Given the description of an element on the screen output the (x, y) to click on. 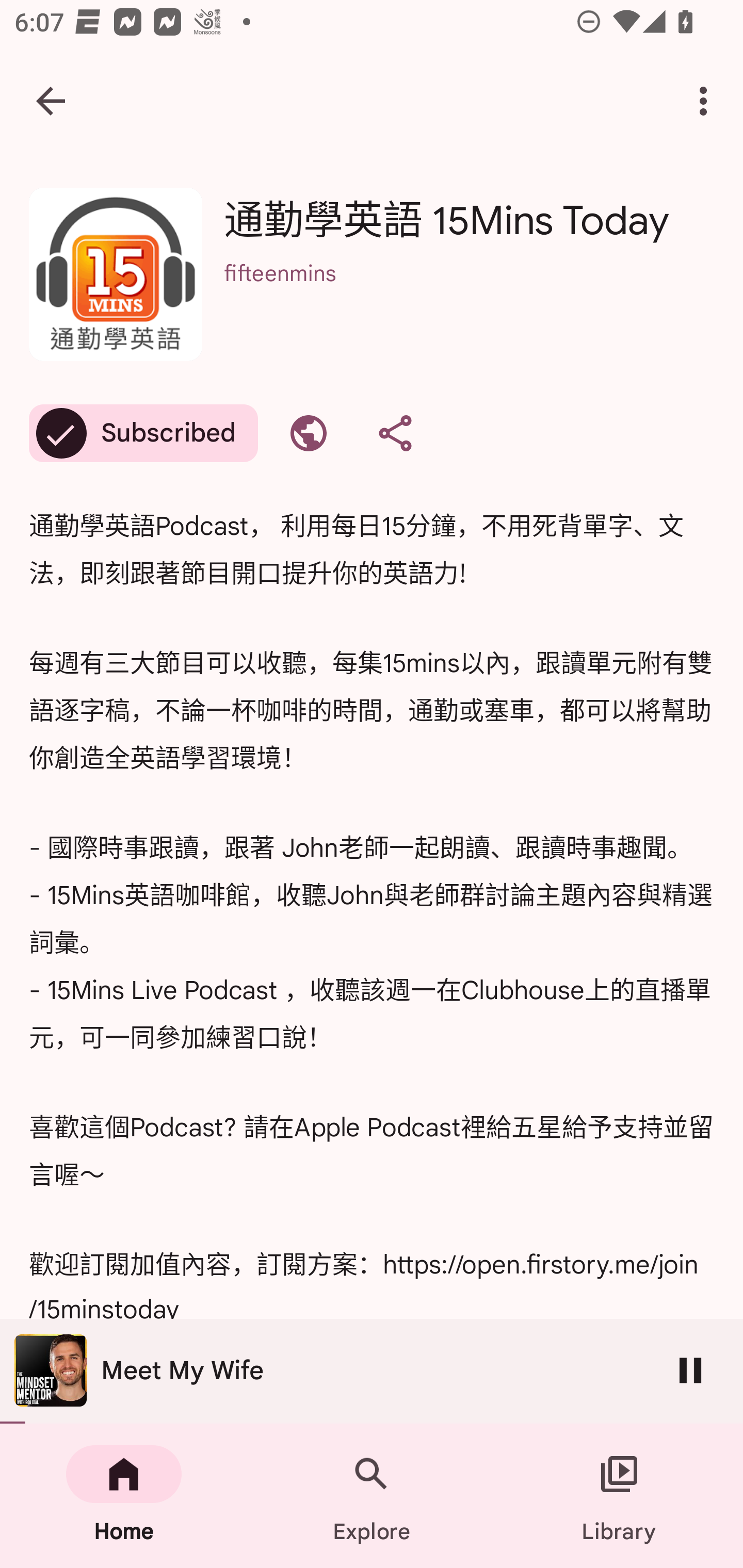
Navigate up (50, 101)
More options (706, 101)
fifteenmins (468, 300)
Subscribed (142, 433)
Visit website (308, 433)
Share (395, 433)
The Mindset Mentor Meet My Wife Pause 333.0 (371, 1370)
Pause (690, 1370)
Explore (371, 1495)
Library (619, 1495)
